Given the description of an element on the screen output the (x, y) to click on. 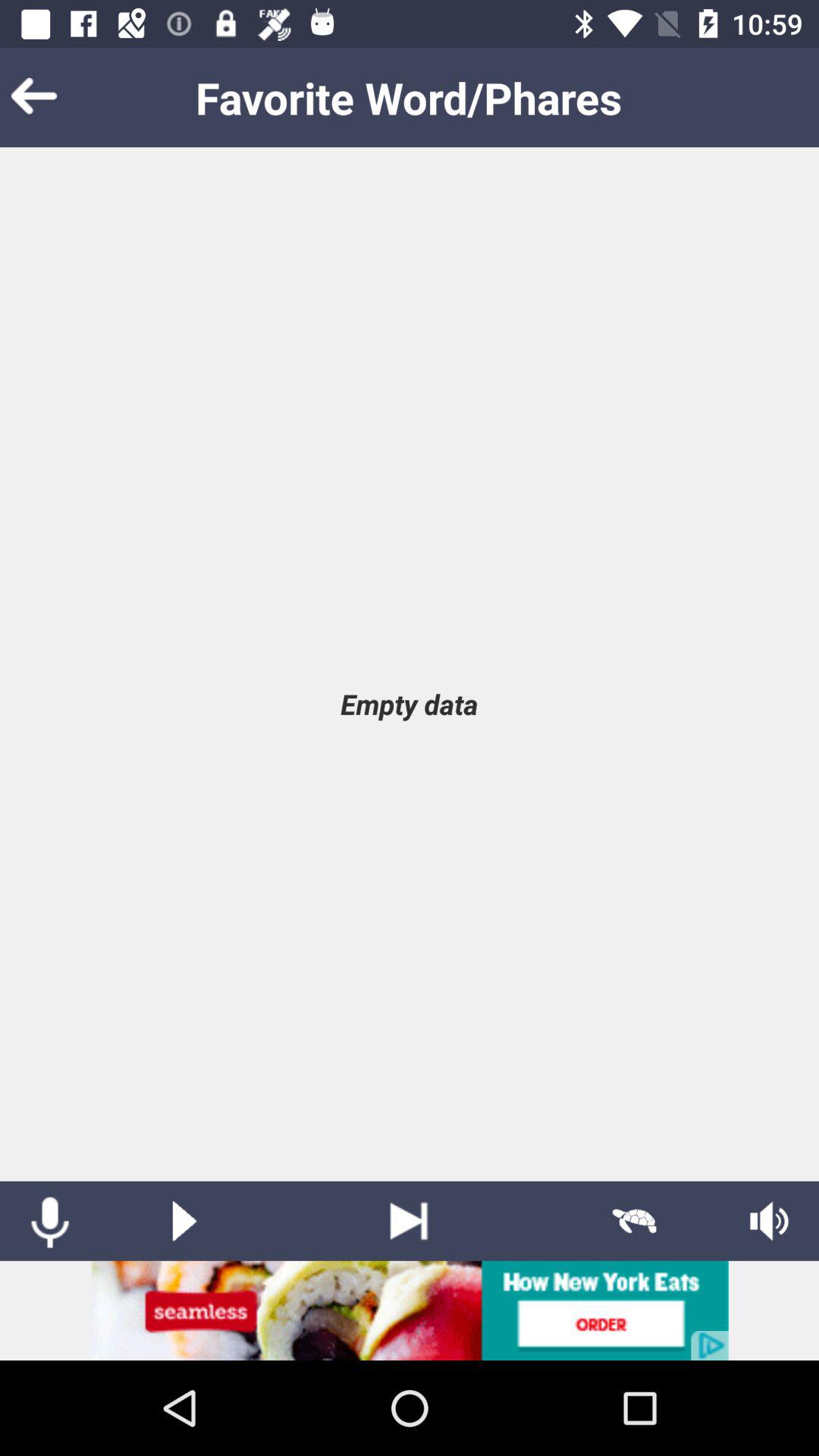
mute the microphone (49, 1220)
